Given the description of an element on the screen output the (x, y) to click on. 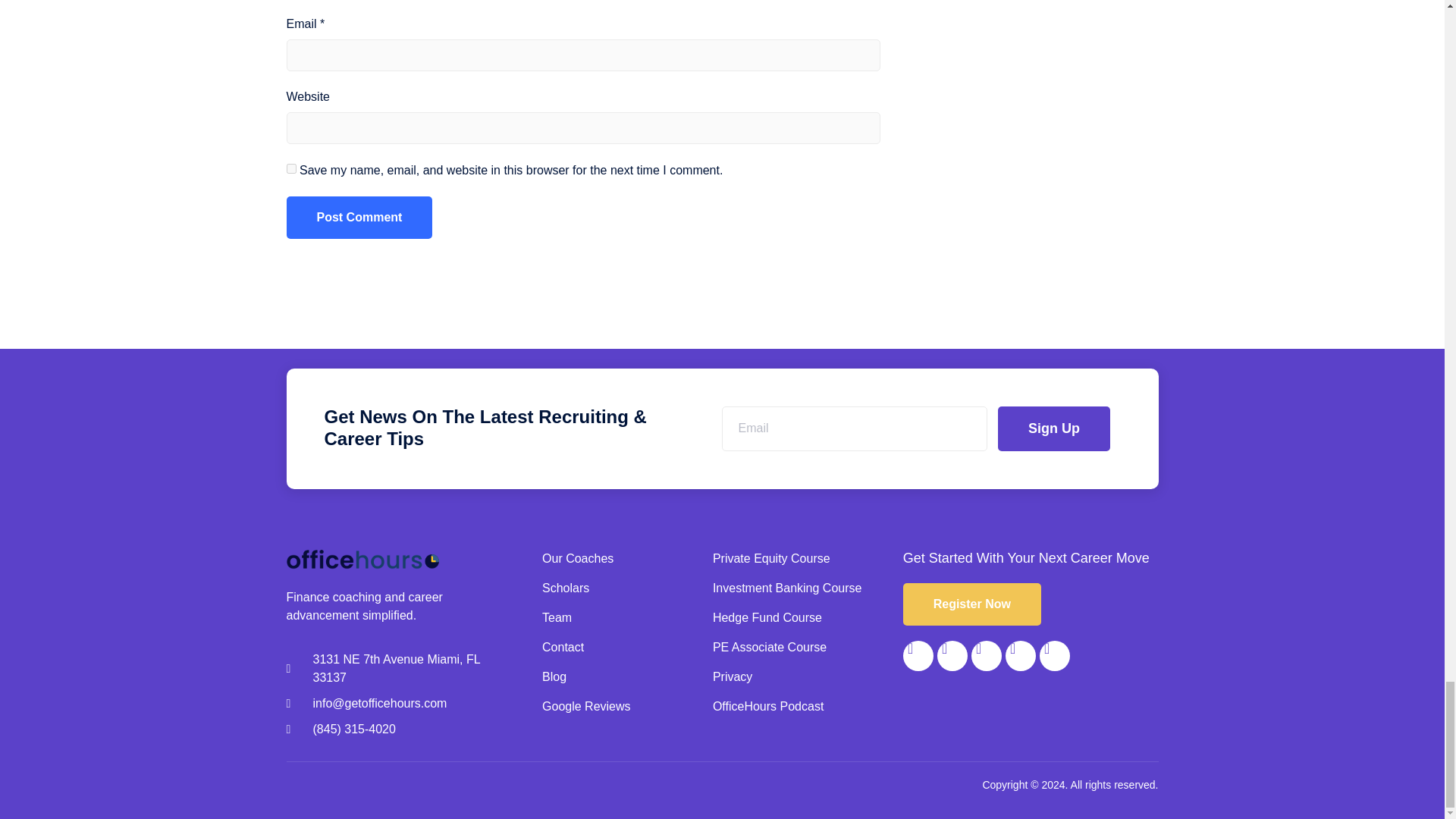
Post Comment (359, 217)
yes (291, 168)
